Given the description of an element on the screen output the (x, y) to click on. 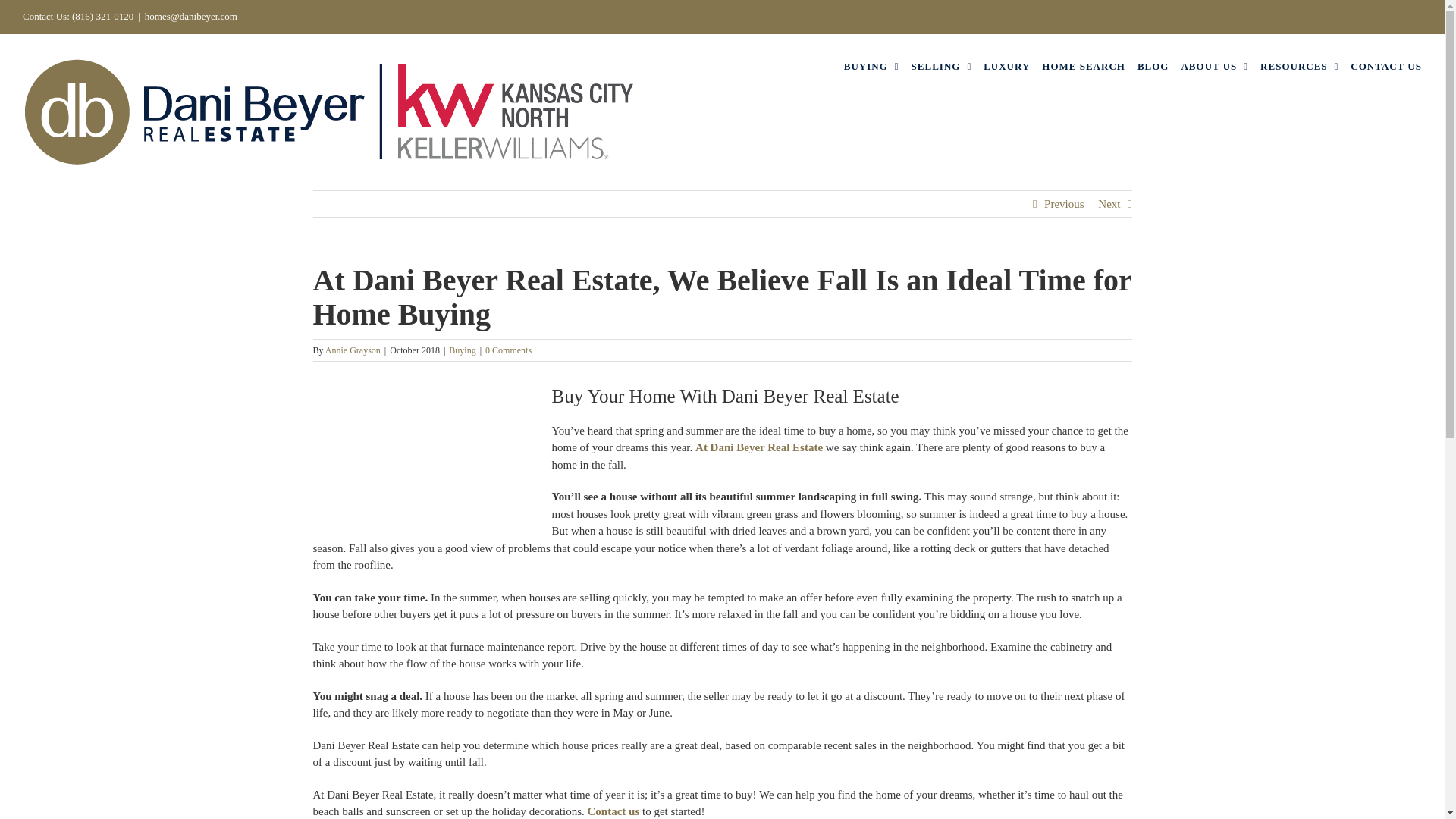
RESOURCES (1299, 65)
CONTACT US (1386, 65)
HOME SEARCH (1083, 65)
SELLING (941, 65)
ABOUT US (1213, 65)
